Given the description of an element on the screen output the (x, y) to click on. 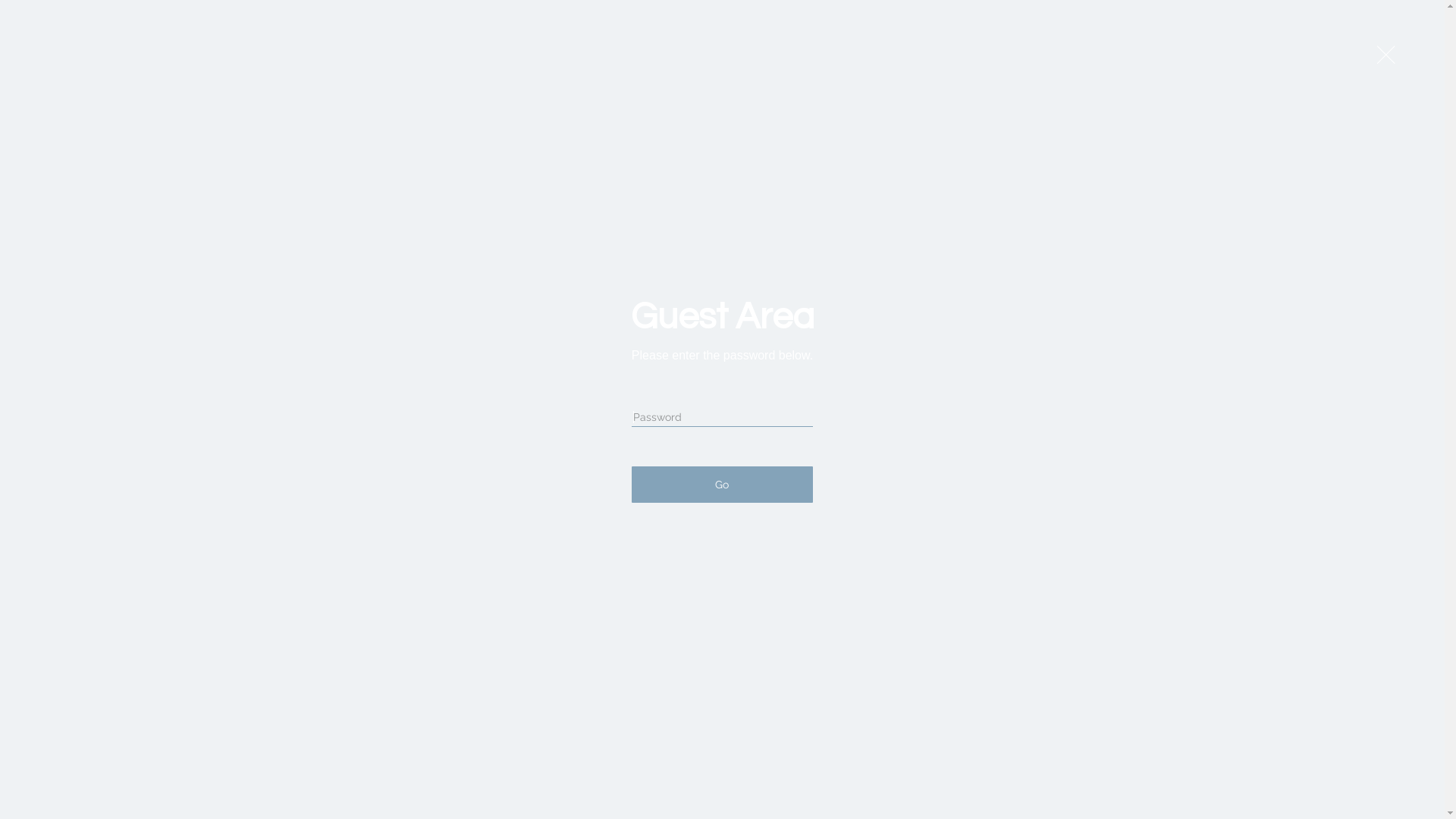
Go Element type: text (721, 484)
